Given the description of an element on the screen output the (x, y) to click on. 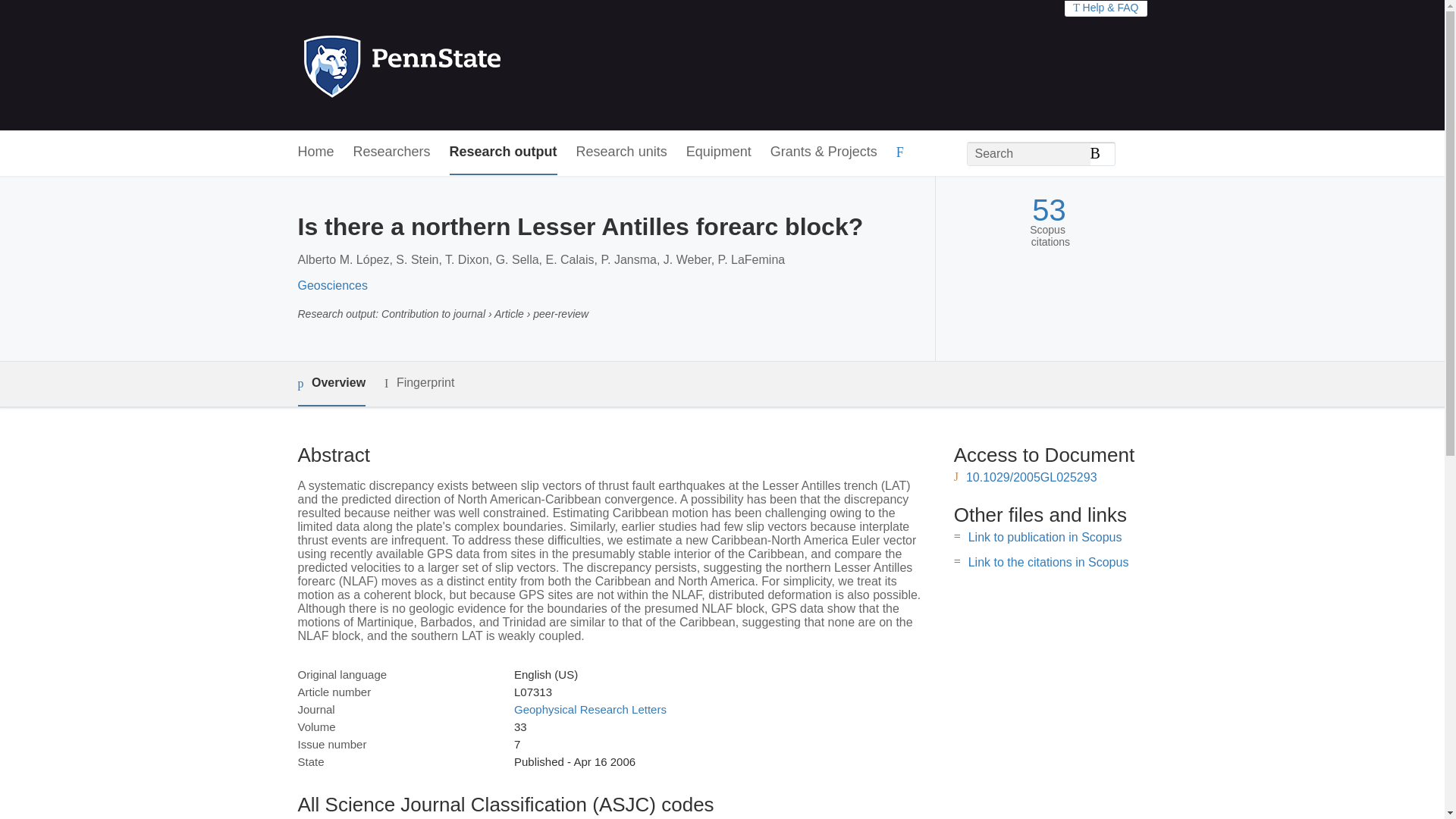
Fingerprint (419, 382)
53 (1048, 210)
Link to publication in Scopus (1045, 536)
Penn State Home (467, 65)
Geosciences (332, 285)
Research units (621, 152)
Equipment (718, 152)
Research output (503, 152)
Overview (331, 383)
Geophysical Research Letters (589, 708)
Link to the citations in Scopus (1048, 562)
Researchers (391, 152)
